Given the description of an element on the screen output the (x, y) to click on. 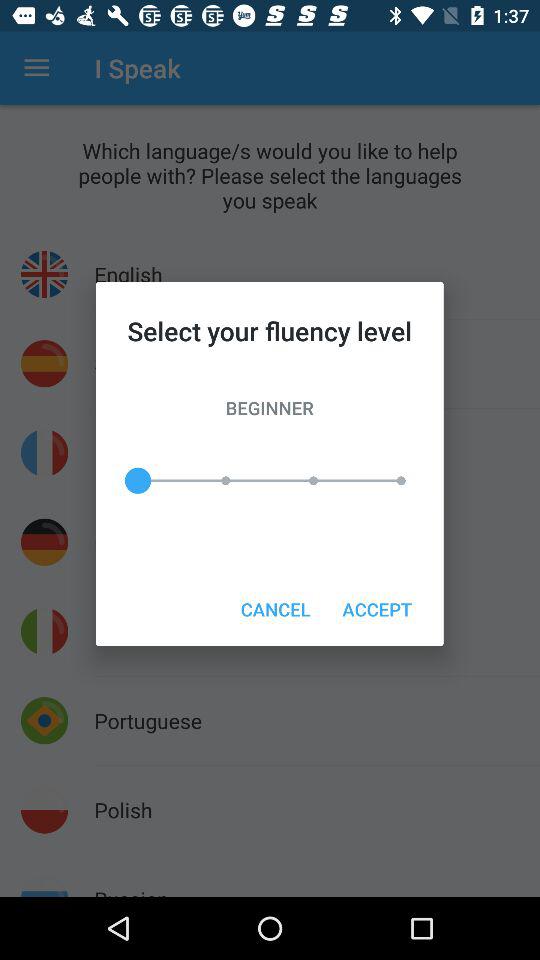
turn on the accept item (376, 608)
